Given the description of an element on the screen output the (x, y) to click on. 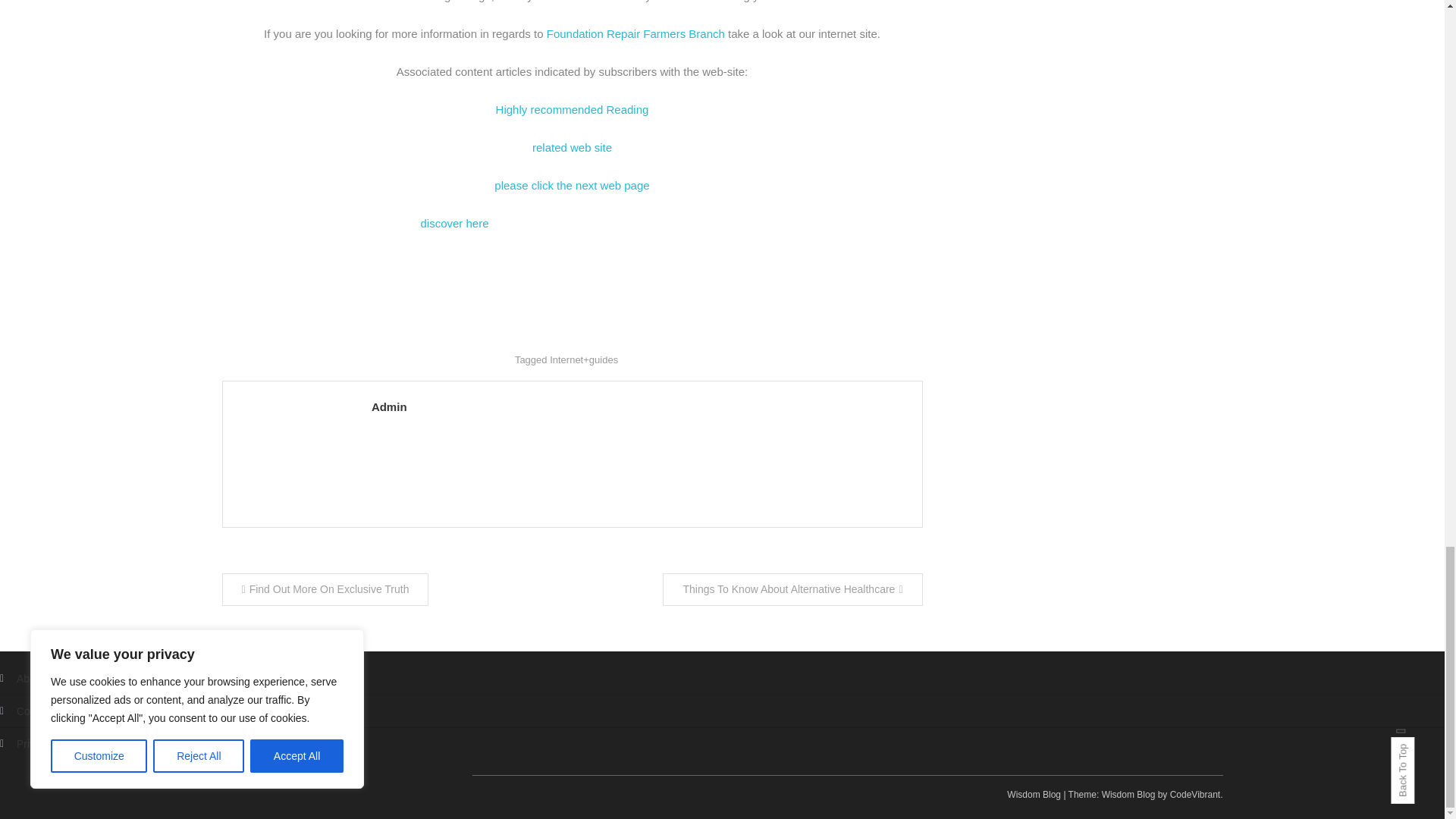
Admin (639, 406)
Foundation Repair Farmers Branch (636, 33)
Find Out More On Exclusive Truth (324, 589)
Highly recommended Reading (572, 109)
discover here (453, 223)
related web site (571, 146)
please click the next web page (572, 185)
Things To Know About Alternative Healthcare (791, 589)
